Given the description of an element on the screen output the (x, y) to click on. 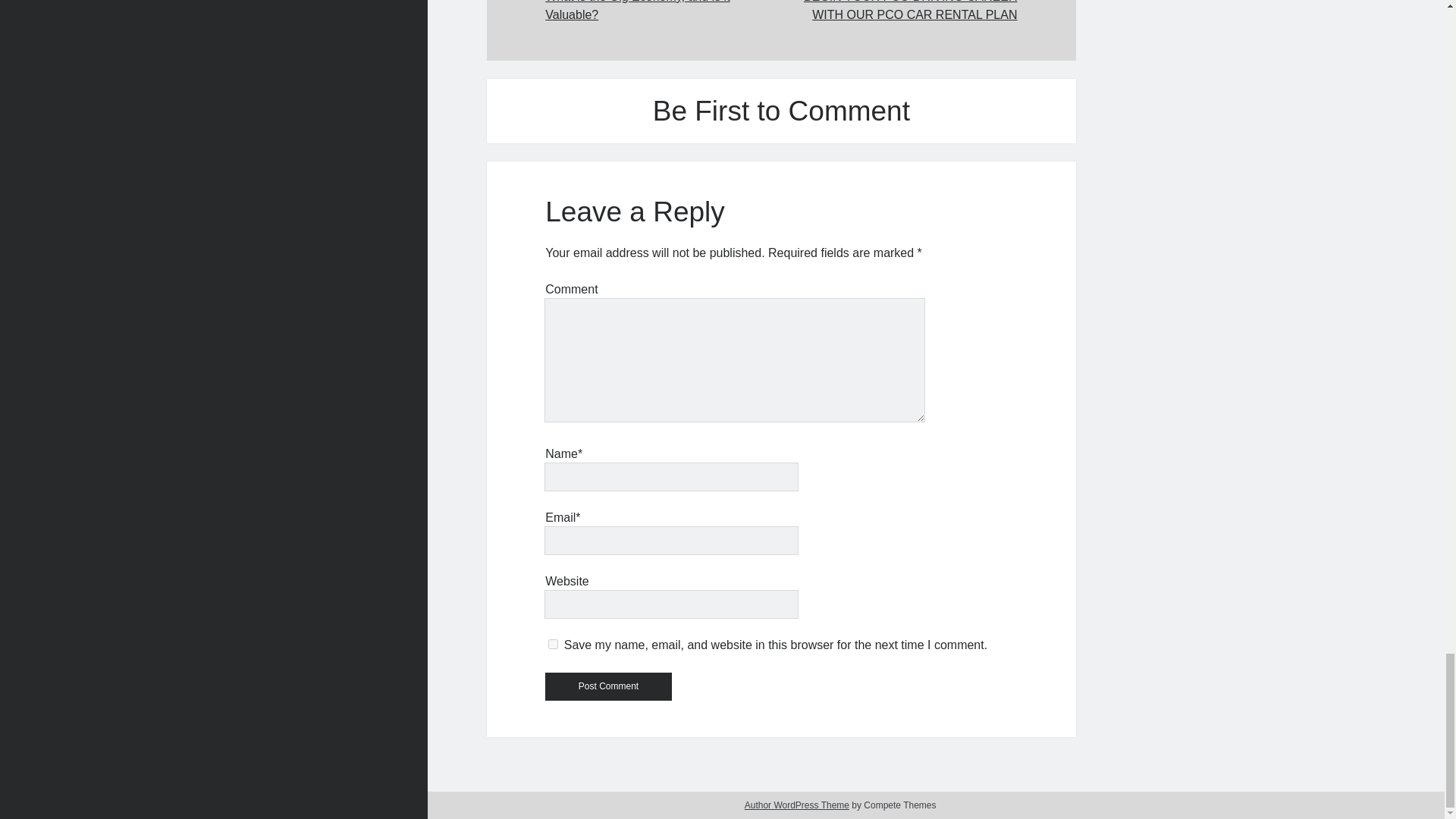
What is the Gig Economy, and is it Valuable? (662, 12)
Author WordPress Theme (796, 805)
BEGIN YOUR PCO DRIVING CAREER WITH OUR PCO CAR RENTAL PLAN (898, 12)
Post Comment (607, 686)
Post Comment (607, 686)
yes (552, 644)
